Given the description of an element on the screen output the (x, y) to click on. 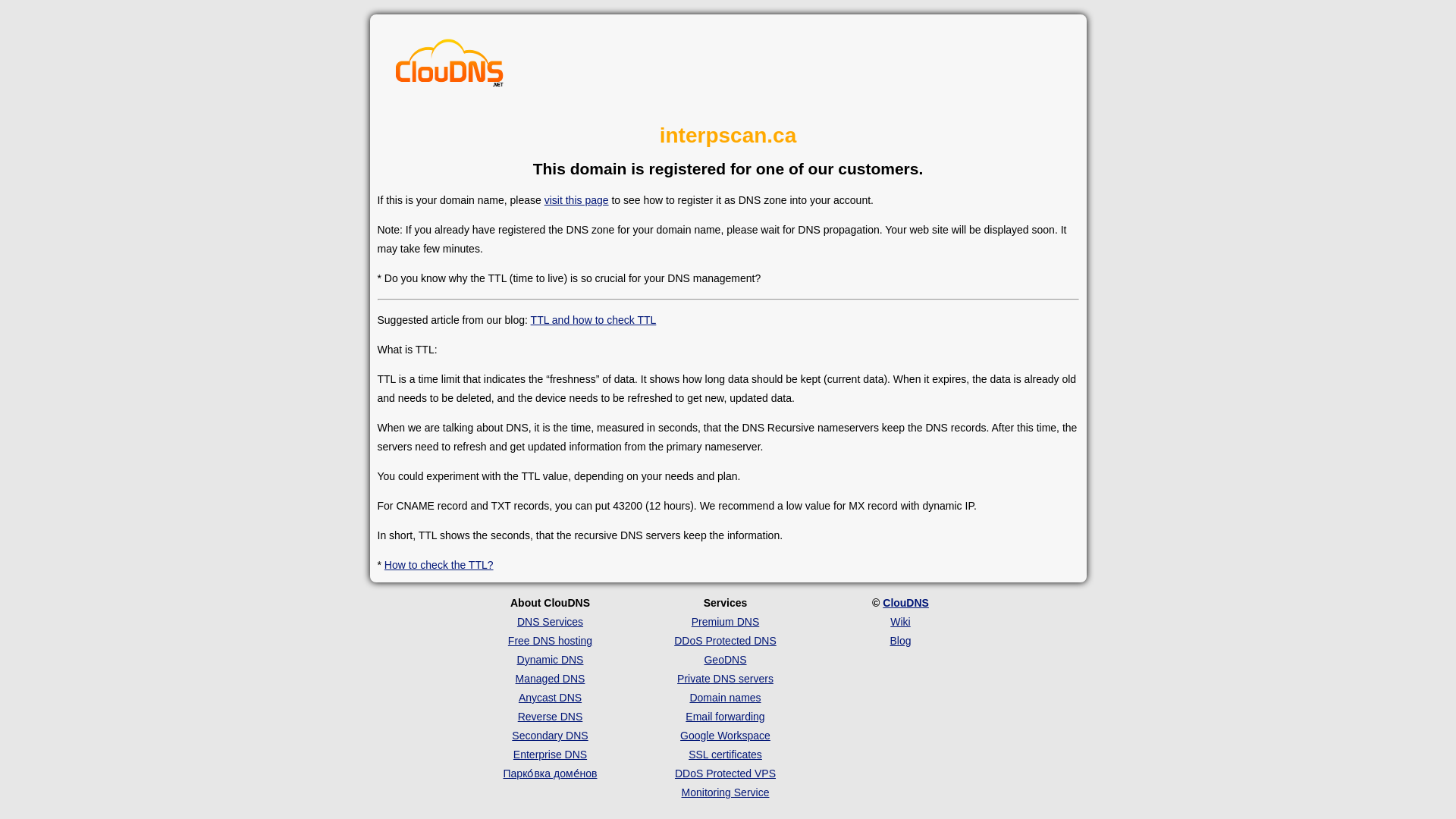
DDoS Protected DNS (725, 640)
Managed DNS (550, 678)
Private DNS servers (725, 678)
ClouDNS (905, 603)
Free DNS hosting (550, 640)
Monitoring Service (725, 792)
DDoS Protected VPS (725, 773)
Google Workspace (724, 735)
TTL and how to check TTL (593, 319)
Domain names (724, 697)
How to check the TTL? (438, 564)
Secondary DNS (550, 735)
Enterprise DNS (549, 754)
Premium DNS (724, 621)
Dynamic DNS (549, 659)
